Given the description of an element on the screen output the (x, y) to click on. 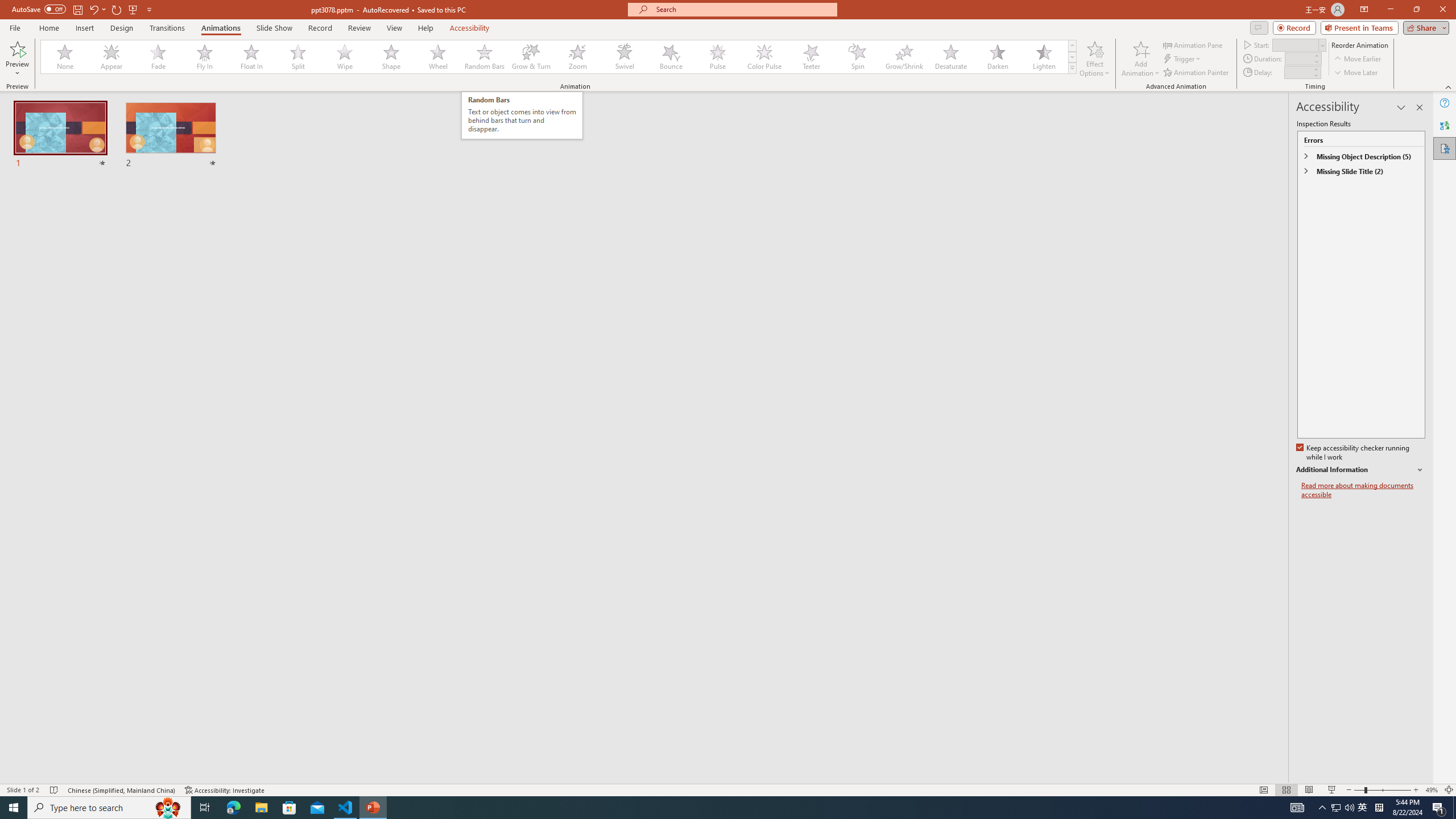
Move Earlier (1357, 58)
Trigger (1182, 58)
Color Pulse (764, 56)
Teeter (810, 56)
Animation Styles (1071, 67)
Fly In (205, 56)
Animation Duration (1298, 58)
